Given the description of an element on the screen output the (x, y) to click on. 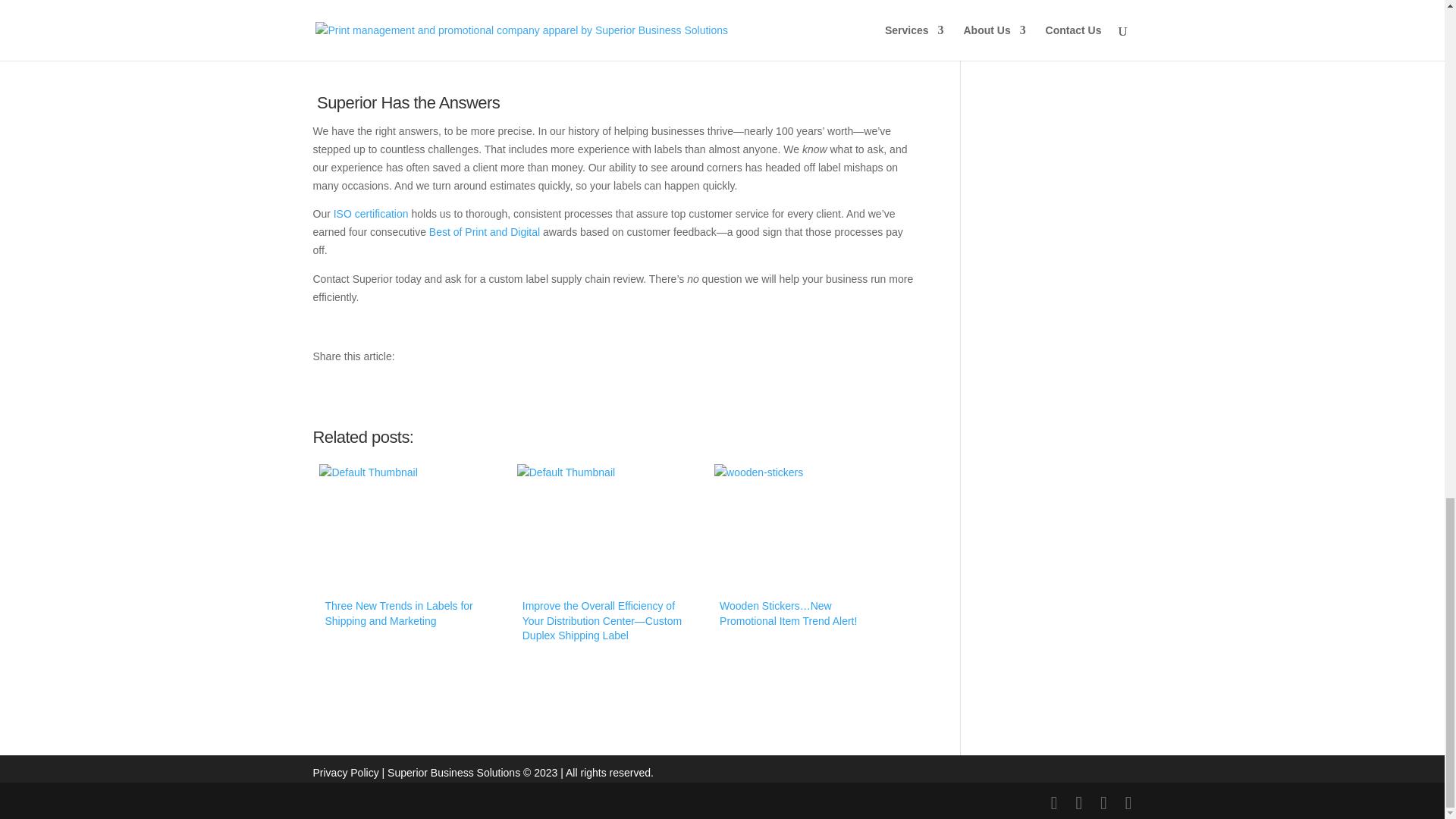
Three New Trends in Labels for Shipping and Marketing (409, 551)
Three New Trends in Labels for Shipping and Marketing (409, 551)
ISO certification (371, 214)
Best of Print and Digital (484, 232)
Privacy Policy (345, 772)
